Given the description of an element on the screen output the (x, y) to click on. 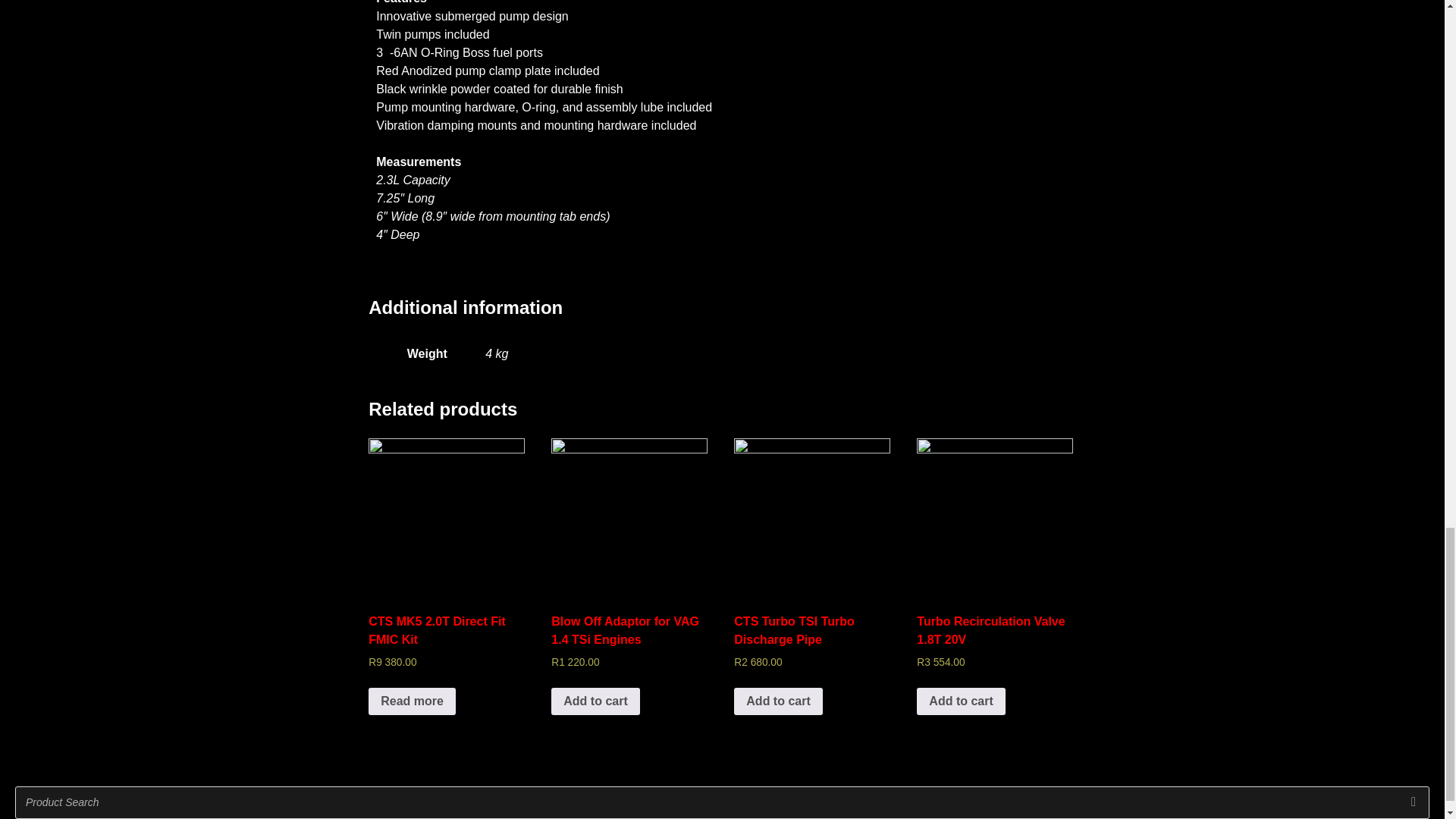
Add to cart (595, 700)
Read more (446, 572)
Add to cart (995, 572)
Add to cart (811, 572)
